Given the description of an element on the screen output the (x, y) to click on. 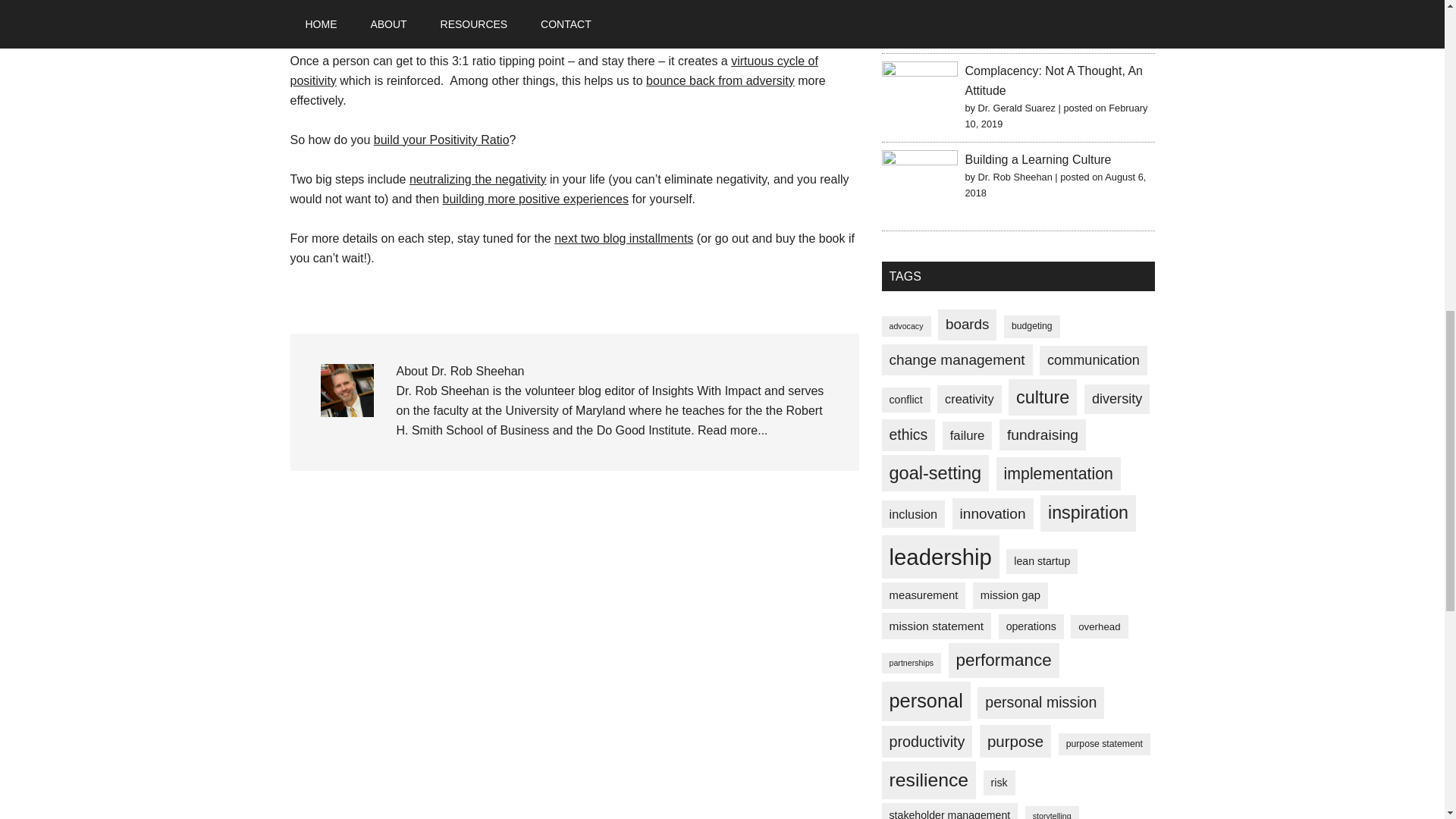
Read more... (732, 430)
Dr. Rob Sheehan (1015, 2)
Dr. Rob Sheehan (1015, 176)
Building a Learning Culture (1036, 159)
Dr. Gerald Suarez (1016, 107)
Complacency: Not A Thought, An Attitude (1052, 80)
web site here (724, 4)
advocacy (905, 326)
